Given the description of an element on the screen output the (x, y) to click on. 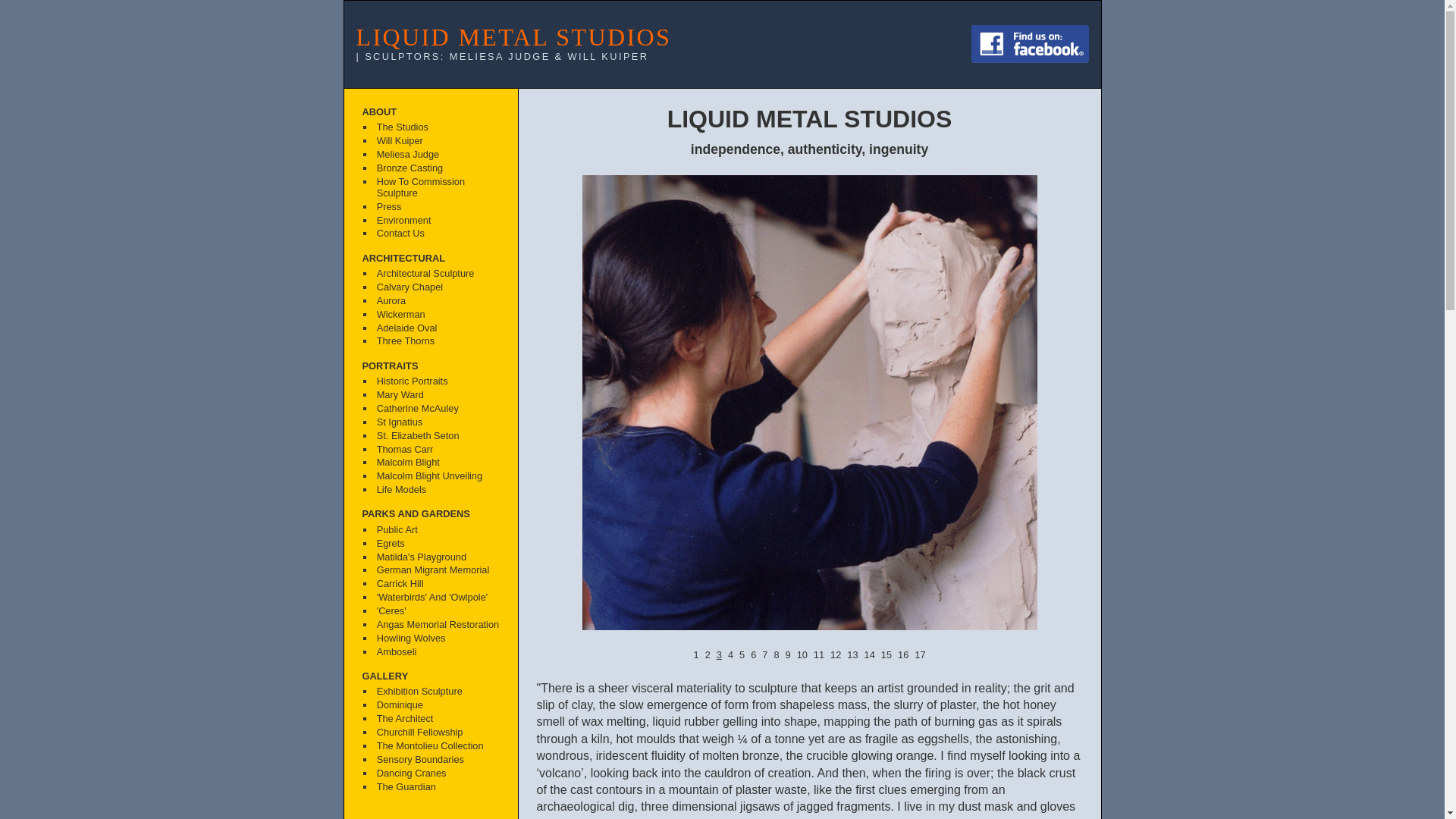
St Ignatius Element type: text (436, 422)
Dominique Element type: text (436, 705)
Angas Memorial Restoration Element type: text (436, 624)
Architectural Sculpture Element type: text (436, 273)
'Ceres' Element type: text (436, 611)
Three Thorns Element type: text (436, 341)
Bronze Casting Element type: text (436, 168)
Public Art Element type: text (436, 529)
Contact Us Element type: text (436, 234)
Thomas Carr Element type: text (436, 449)
13 Element type: text (852, 655)
5 Element type: text (741, 655)
Meliesa Judge Element type: text (436, 155)
10 Element type: text (802, 655)
16 Element type: text (902, 655)
Exhibition Sculpture Element type: text (436, 692)
LIQUID METAL STUDIOS Element type: text (513, 36)
2 Element type: text (707, 655)
Adelaide Oval Element type: text (436, 328)
Catherine McAuley Element type: text (436, 408)
The Architect Element type: text (436, 719)
Howling Wolves Element type: text (436, 638)
Historic Portraits Element type: text (436, 381)
14 Element type: text (869, 655)
German Migrant Memorial Element type: text (436, 570)
Matilda'S Playground Element type: text (436, 557)
The Montolieu Collection Element type: text (436, 746)
The Studios Element type: text (436, 127)
8 Element type: text (775, 655)
How To Commission Sculpture Element type: text (436, 187)
St. Elizabeth Seton Element type: text (436, 435)
12 Element type: text (835, 655)
6 Element type: text (753, 655)
Malcolm Blight Unveiling Element type: text (436, 476)
Press Element type: text (436, 206)
Sensory Boundaries Element type: text (436, 759)
Malcolm Blight Element type: text (436, 463)
Egrets Element type: text (436, 543)
9 Element type: text (787, 655)
3 Element type: text (718, 655)
7 Element type: text (764, 655)
11 Element type: text (818, 655)
Calvary Chapel Element type: text (436, 287)
Dancing Cranes Element type: text (436, 773)
17 Element type: text (919, 655)
Carrick Hill Element type: text (436, 584)
1 Element type: text (695, 655)
Churchill Fellowship Element type: text (436, 732)
The Guardian Element type: text (436, 786)
15 Element type: text (886, 655)
Aurora Element type: text (436, 300)
Life Models Element type: text (436, 490)
Environment Element type: text (436, 220)
Amboseli Element type: text (436, 651)
4 Element type: text (730, 655)
Will Kuiper Element type: text (436, 141)
Wickerman Element type: text (436, 314)
Mary Ward Element type: text (436, 394)
'Waterbirds' And 'Owlpole' Element type: text (436, 598)
